Given the description of an element on the screen output the (x, y) to click on. 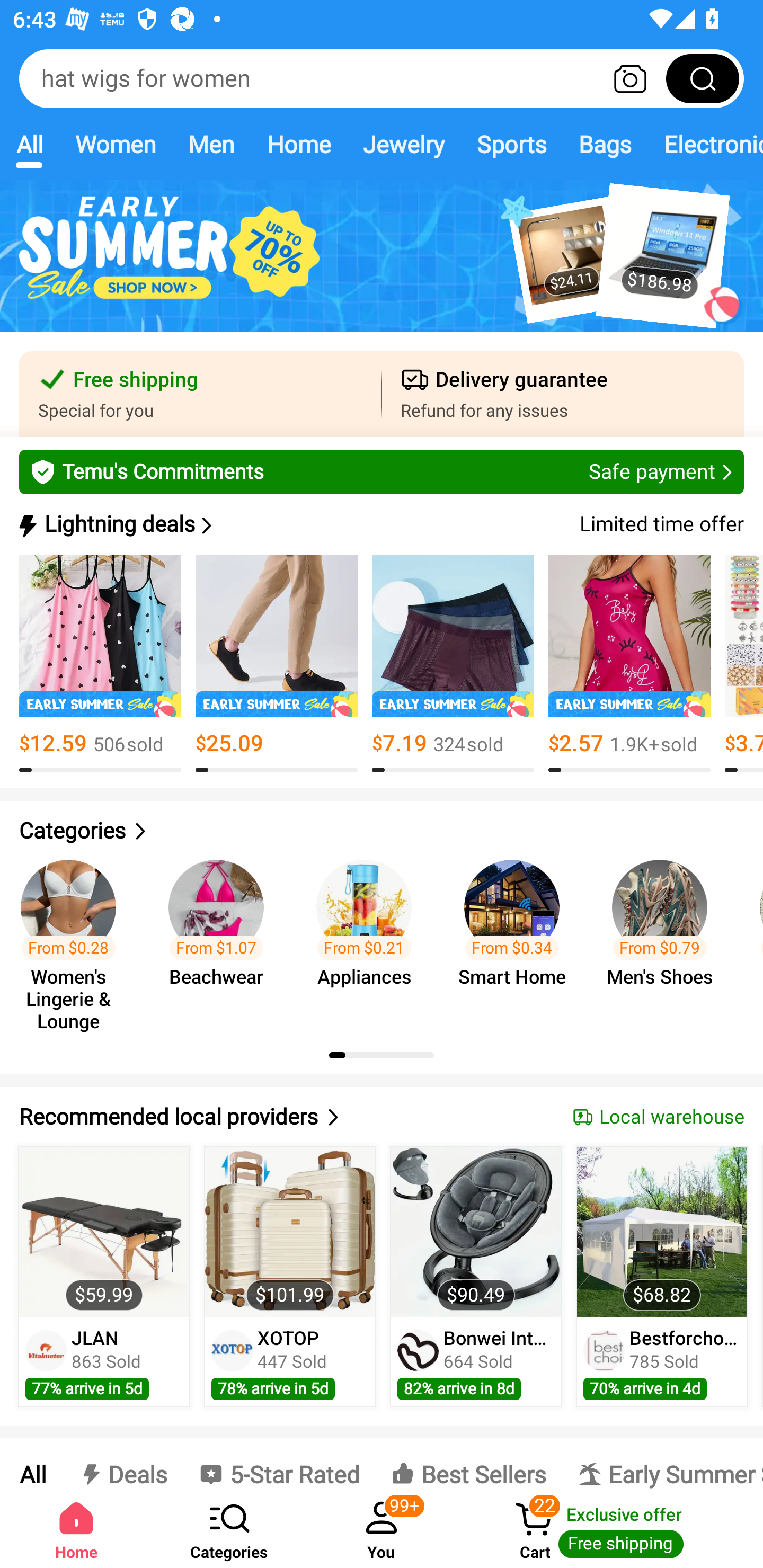
hat wigs for women (381, 78)
All (29, 144)
Women (115, 144)
Men (211, 144)
Home (298, 144)
Jewelry (403, 144)
Sports (511, 144)
Bags (605, 144)
Electronics (705, 144)
$24.11 $186.98 (381, 265)
Free shipping Special for you (200, 394)
Delivery guarantee Refund for any issues (562, 394)
Temu's Commitments (381, 471)
Lightning deals Lightning deals Limited time offer (379, 524)
$12.59 506￼sold 8.0 (100, 664)
$25.09 8.0 (276, 664)
$7.19 324￼sold 8.0 (453, 664)
$2.57 1.9K+￼sold 8.0 (629, 664)
Categories (381, 830)
From $0.28 Women's Lingerie & Lounge (74, 936)
From $1.07 Beachwear (222, 936)
From $0.21 Appliances (369, 936)
From $0.34 Smart Home (517, 936)
From $0.79 Men's Shoes (665, 936)
$59.99 JLAN 863 Sold 77% arrive in 5d (103, 1276)
$101.99 XOTOP 447 Sold 78% arrive in 5d (289, 1276)
$68.82 Bestforchoice 785 Sold 70% arrive in 4d (661, 1276)
$59.99 (104, 1232)
$101.99 (290, 1232)
$90.49 (475, 1232)
$68.82 (661, 1232)
All (32, 1463)
Deals Deals Deals (122, 1463)
5-Star Rated 5-Star Rated 5-Star Rated (279, 1463)
Best Sellers Best Sellers Best Sellers (468, 1463)
Home (76, 1528)
Categories (228, 1528)
You ‎99+‎ You (381, 1528)
Cart 22 Cart Exclusive offer (610, 1528)
